Given the description of an element on the screen output the (x, y) to click on. 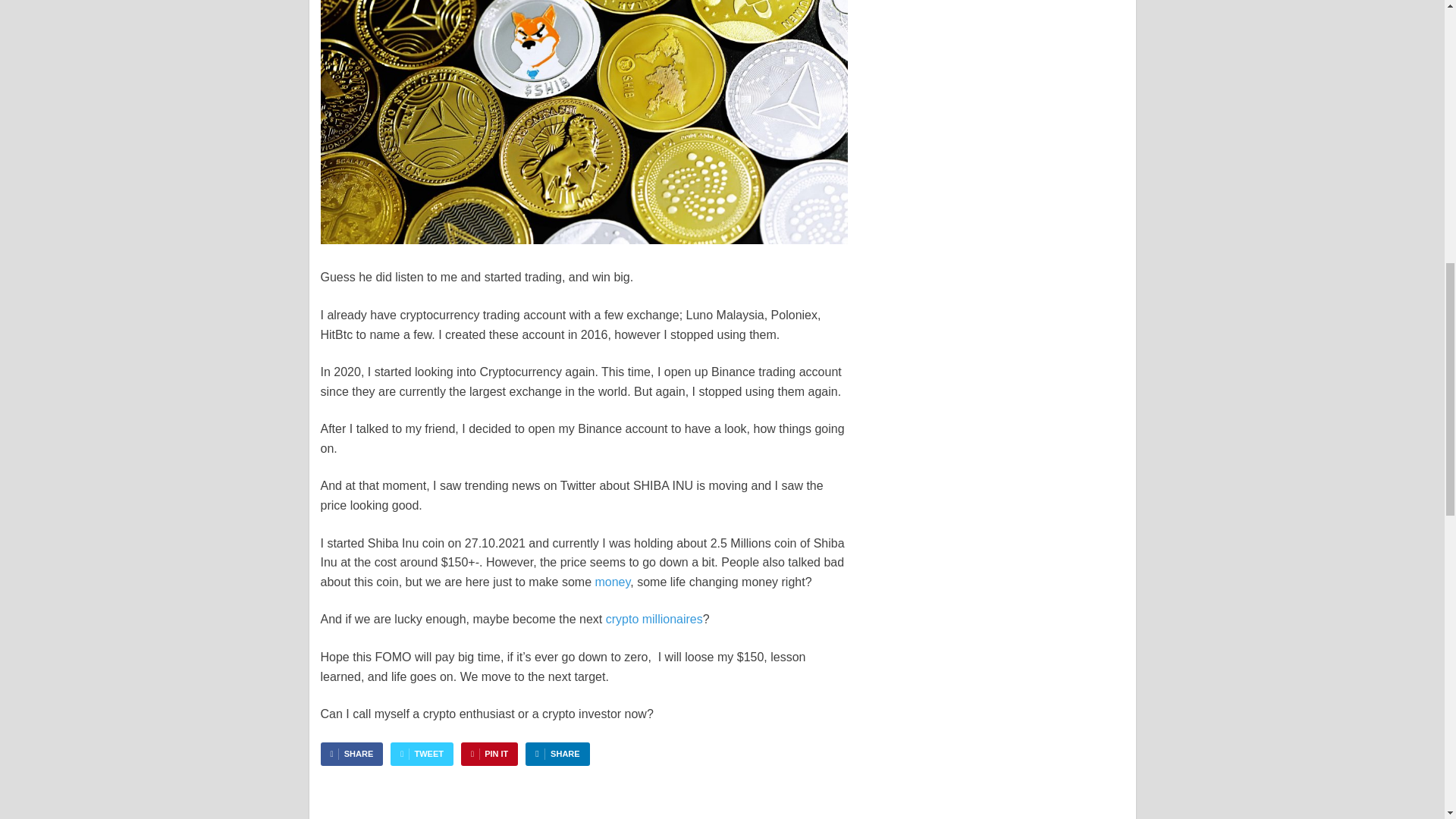
PIN IT (489, 753)
money (612, 581)
crypto millionaires (654, 618)
Advertisement (992, 13)
SHARE (351, 753)
SHARE (557, 753)
TWEET (421, 753)
